Given the description of an element on the screen output the (x, y) to click on. 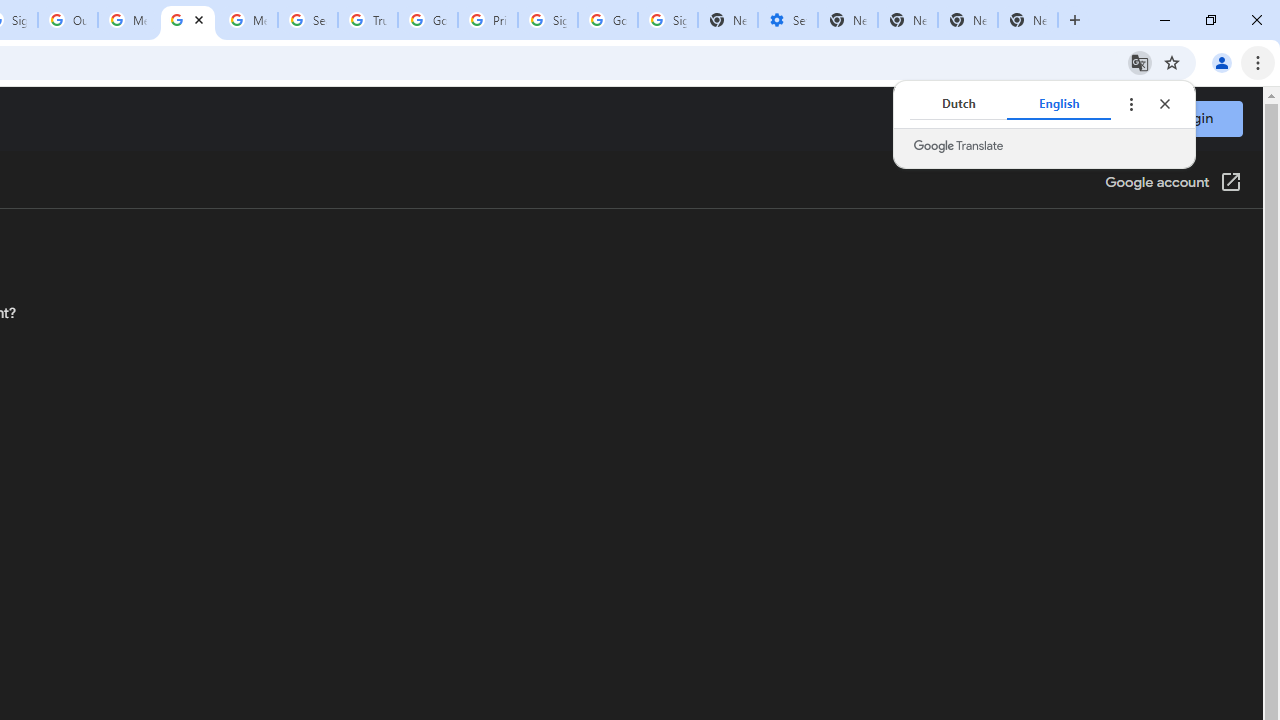
Sign in - Google Accounts (548, 20)
Trusted Information and Content - Google Safety Center (367, 20)
Dutch (958, 103)
Translate this page (1139, 62)
Turn cookies on or off - Computer - Google Account Help (187, 20)
English (1059, 103)
Google Cybersecurity Innovations - Google Safety Center (607, 20)
